Given the description of an element on the screen output the (x, y) to click on. 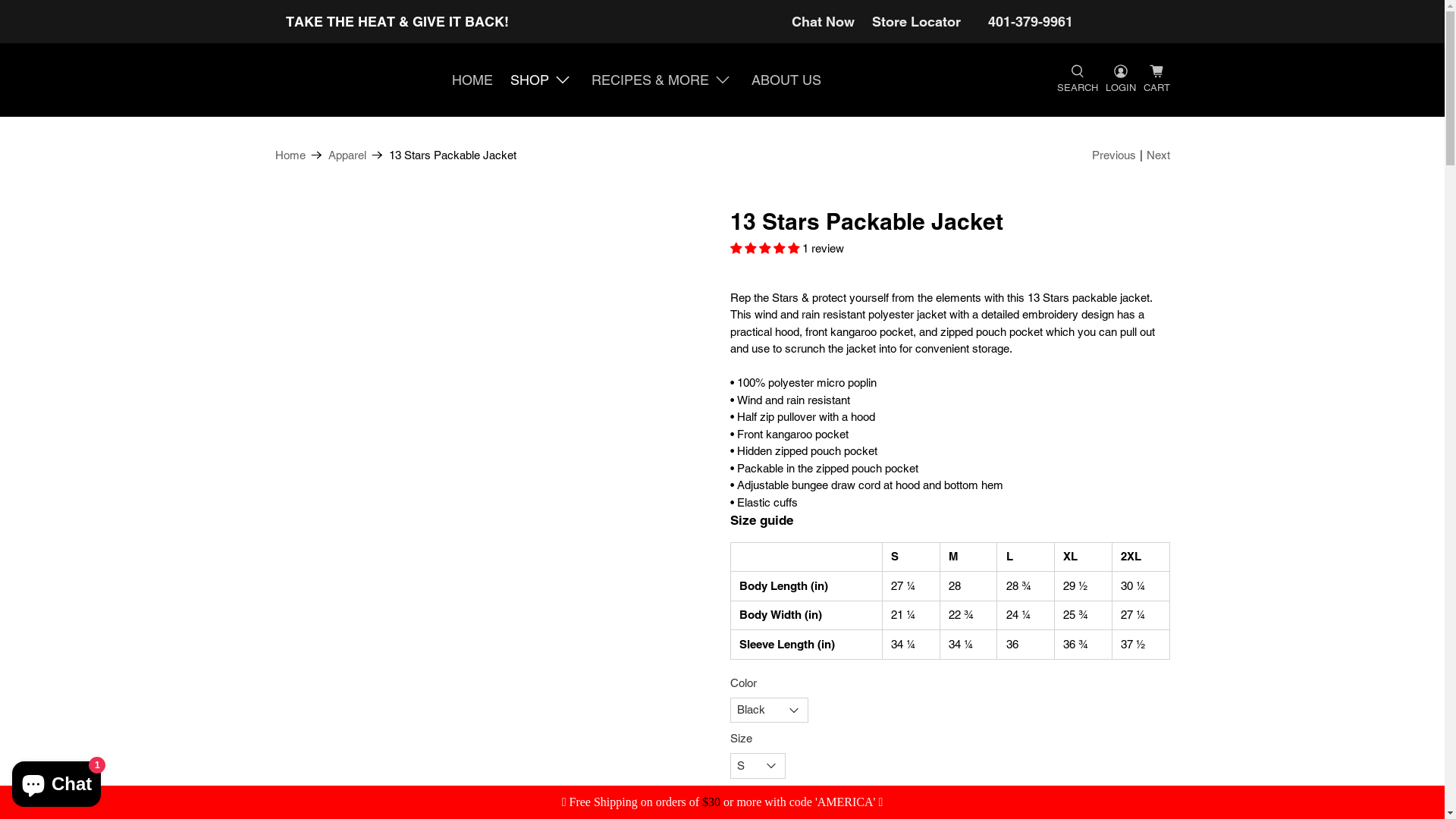
Home Element type: text (289, 154)
LOGIN Element type: text (1120, 79)
Next Element type: text (1158, 155)
HOME Element type: text (472, 79)
CART Element type: text (1156, 79)
SEARCH Element type: text (1076, 79)
Chat Now Element type: text (823, 21)
Apparel Element type: text (346, 154)
Previous Element type: text (1113, 155)
SHOP Element type: text (542, 79)
ABOUT US Element type: text (786, 79)
RECIPES & MORE Element type: text (663, 79)
Store Locator Element type: text (915, 21)
13 Stars Hot Sauce Element type: hover (359, 79)
Shopify online store chat Element type: hover (56, 780)
